Given the description of an element on the screen output the (x, y) to click on. 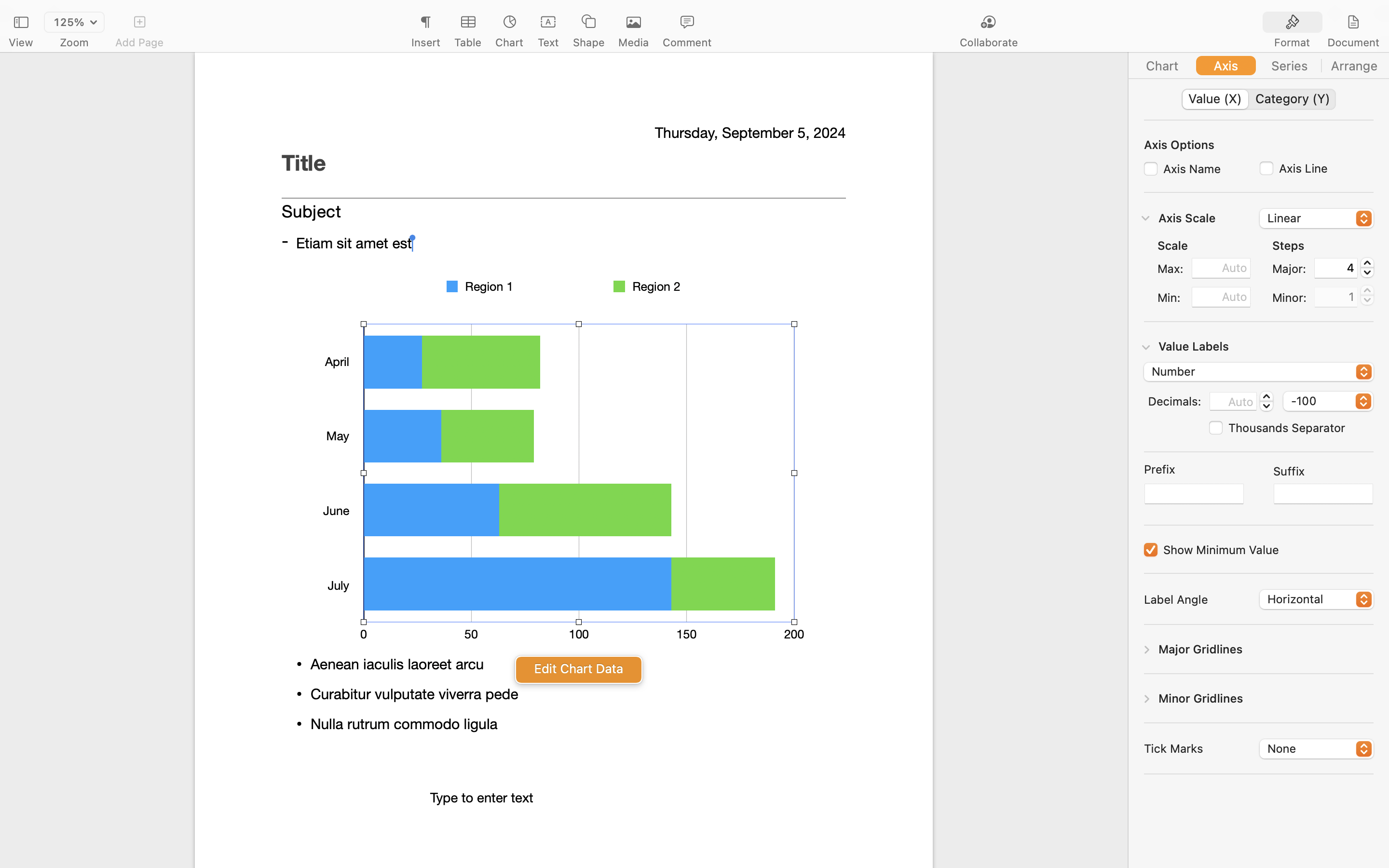
Scale Element type: AXStaticText (1172, 245)
Insert Element type: AXStaticText (425, 42)
Minor: Element type: AXStaticText (1289, 297)
<AXUIElement 0x1737db090> {pid=1482} Element type: AXRadioGroup (1258, 65)
Major: Element type: AXStaticText (1289, 268)
